Given the description of an element on the screen output the (x, y) to click on. 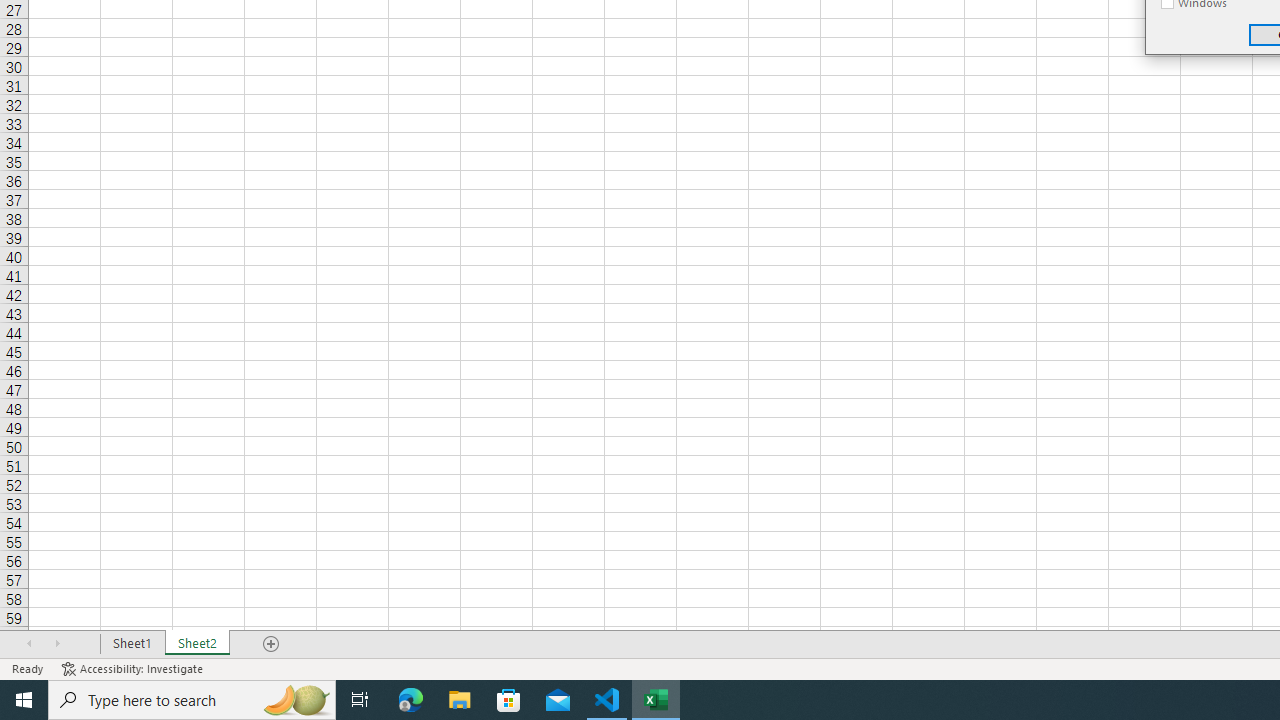
Excel - 1 running window (656, 699)
Microsoft Edge (411, 699)
File Explorer (460, 699)
Accessibility Checker Accessibility: Investigate (134, 668)
Task View (359, 699)
Search highlights icon opens search home window (295, 699)
Start (24, 699)
Visual Studio Code - 1 running window (607, 699)
Sheet2 (197, 644)
Microsoft Store (509, 699)
Type here to search (191, 699)
